Given the description of an element on the screen output the (x, y) to click on. 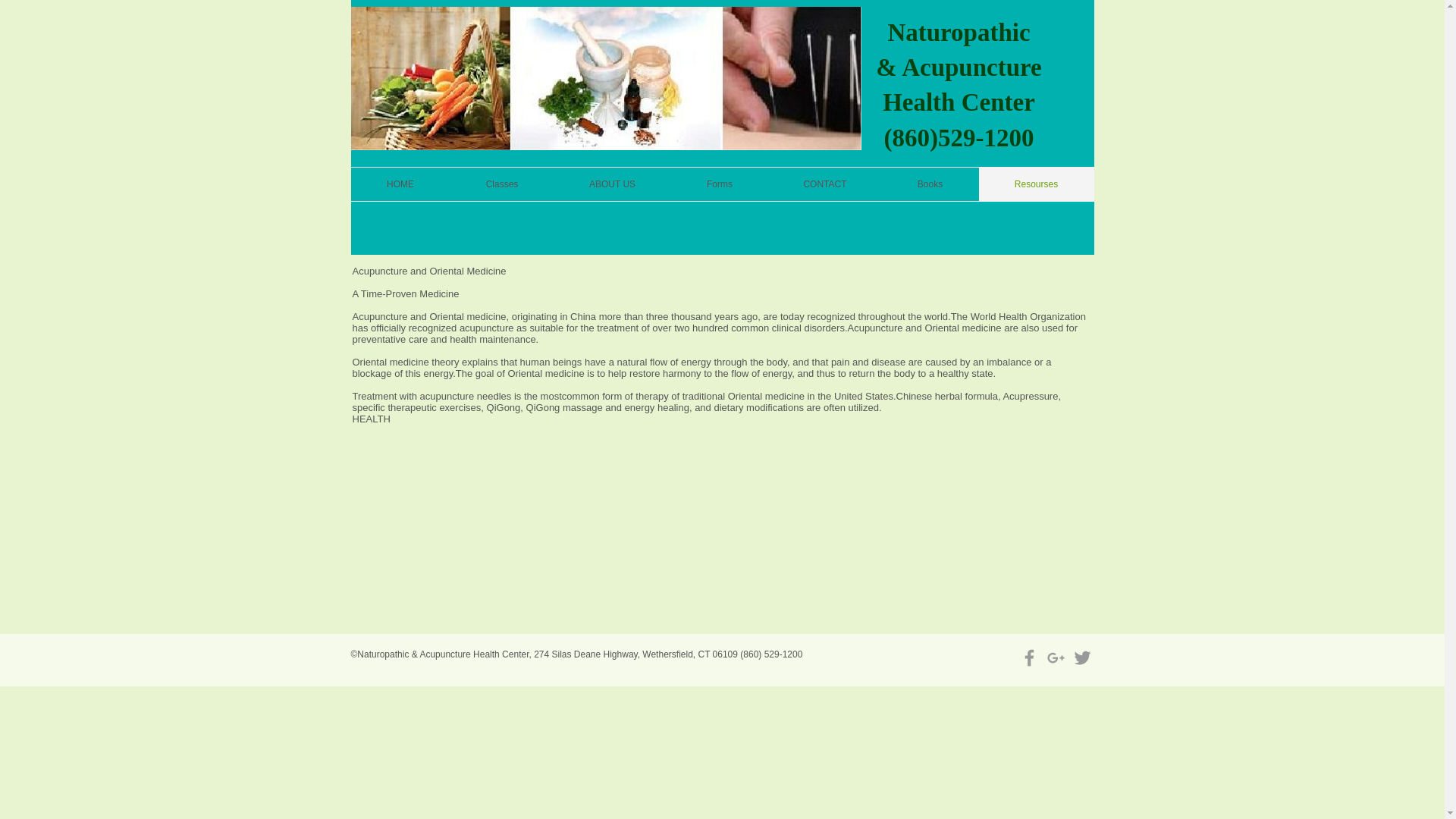
Health Center (958, 102)
HOME (399, 183)
Forms (718, 183)
Books (929, 183)
Naturopathic (957, 31)
Classes (501, 183)
CONTACT (825, 183)
ABOUT US (611, 183)
Resourses (1035, 183)
